Given the description of an element on the screen output the (x, y) to click on. 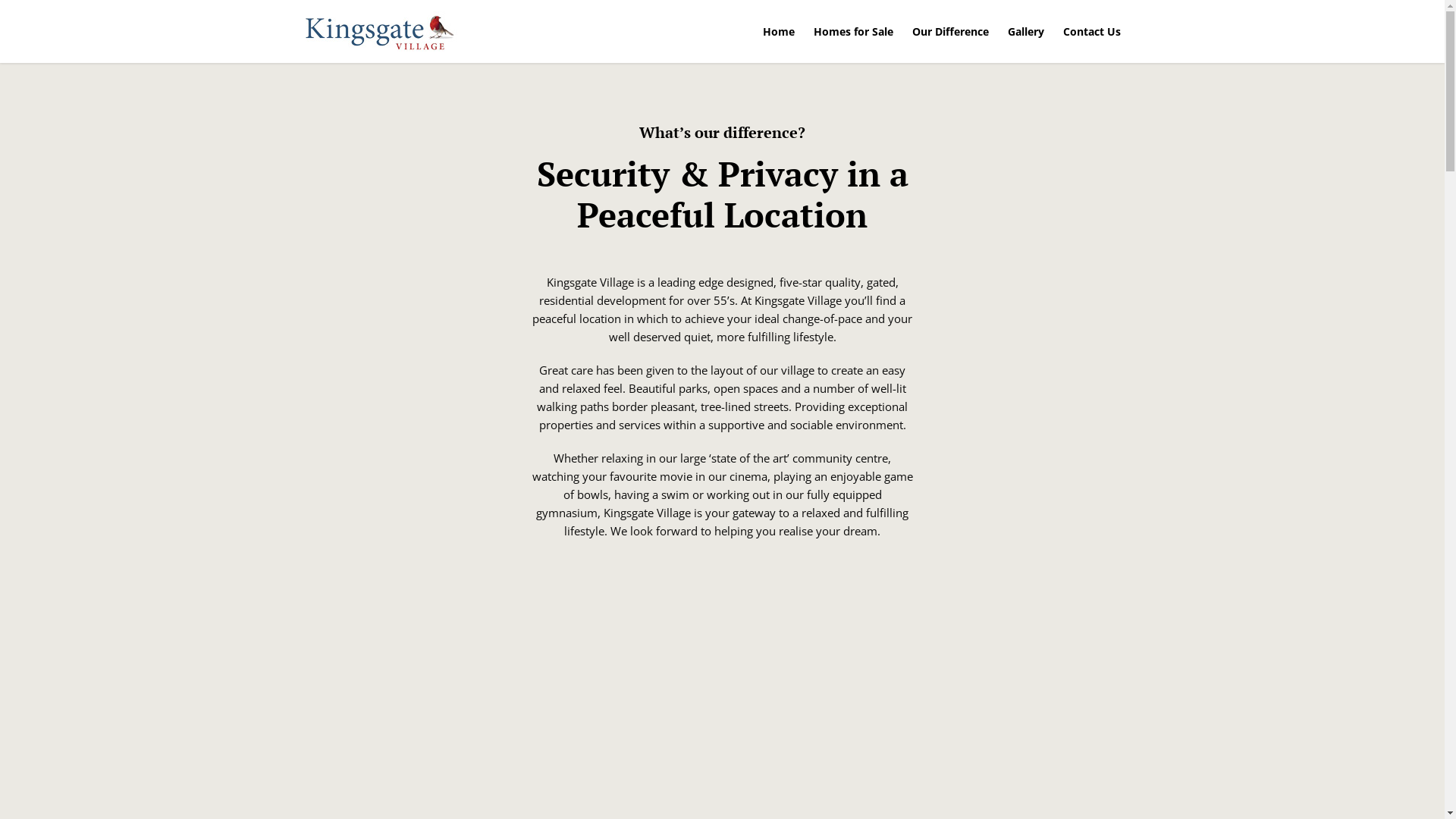
Home Element type: text (778, 31)
Gallery Element type: text (1025, 31)
Homes for Sale Element type: text (852, 31)
Our Difference Element type: text (949, 31)
Contact Us Element type: text (1091, 31)
